Given the description of an element on the screen output the (x, y) to click on. 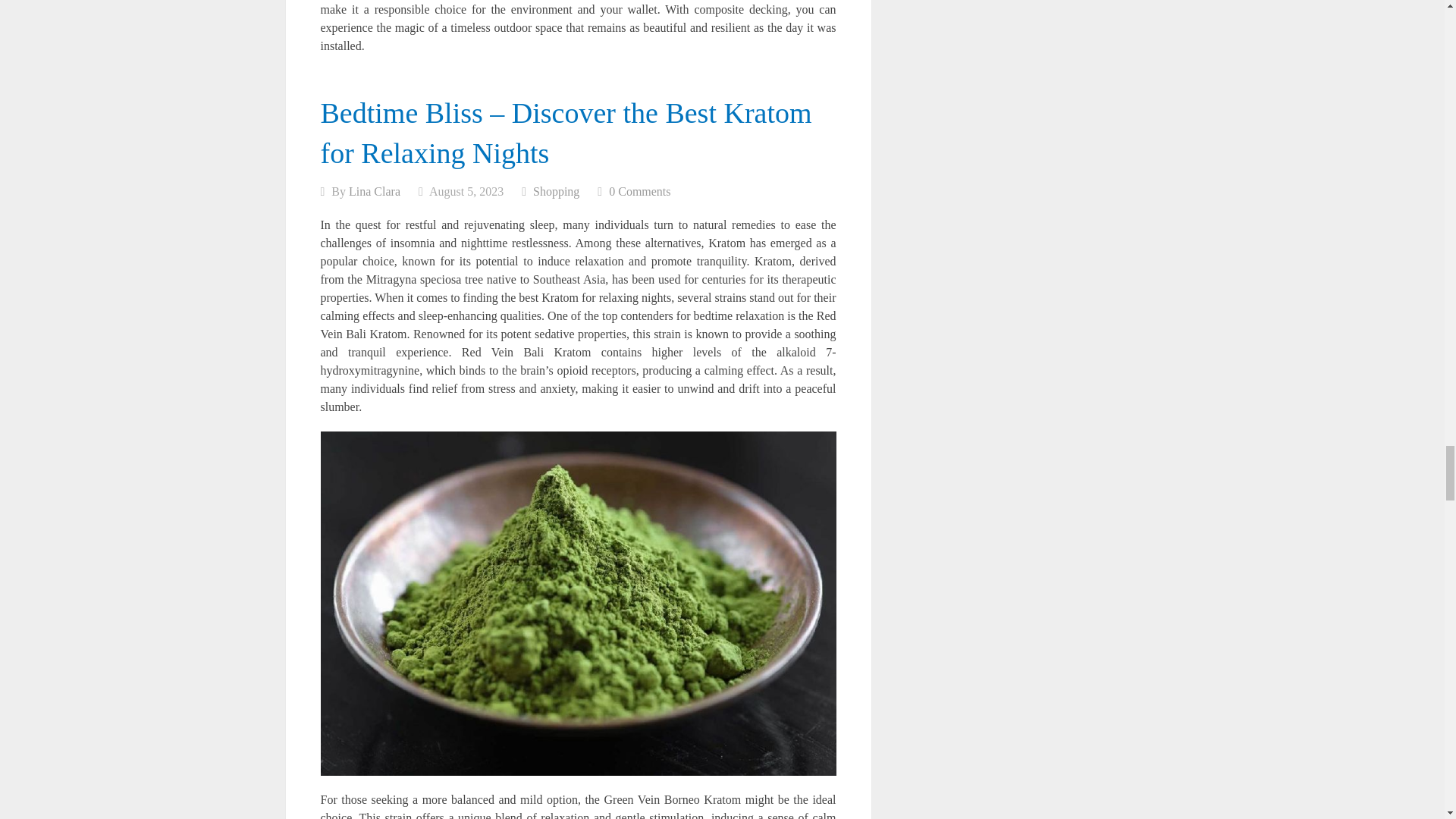
Shopping (555, 191)
Lina Clara (374, 191)
0 Comments (638, 191)
Posts by Lina Clara (374, 191)
